Given the description of an element on the screen output the (x, y) to click on. 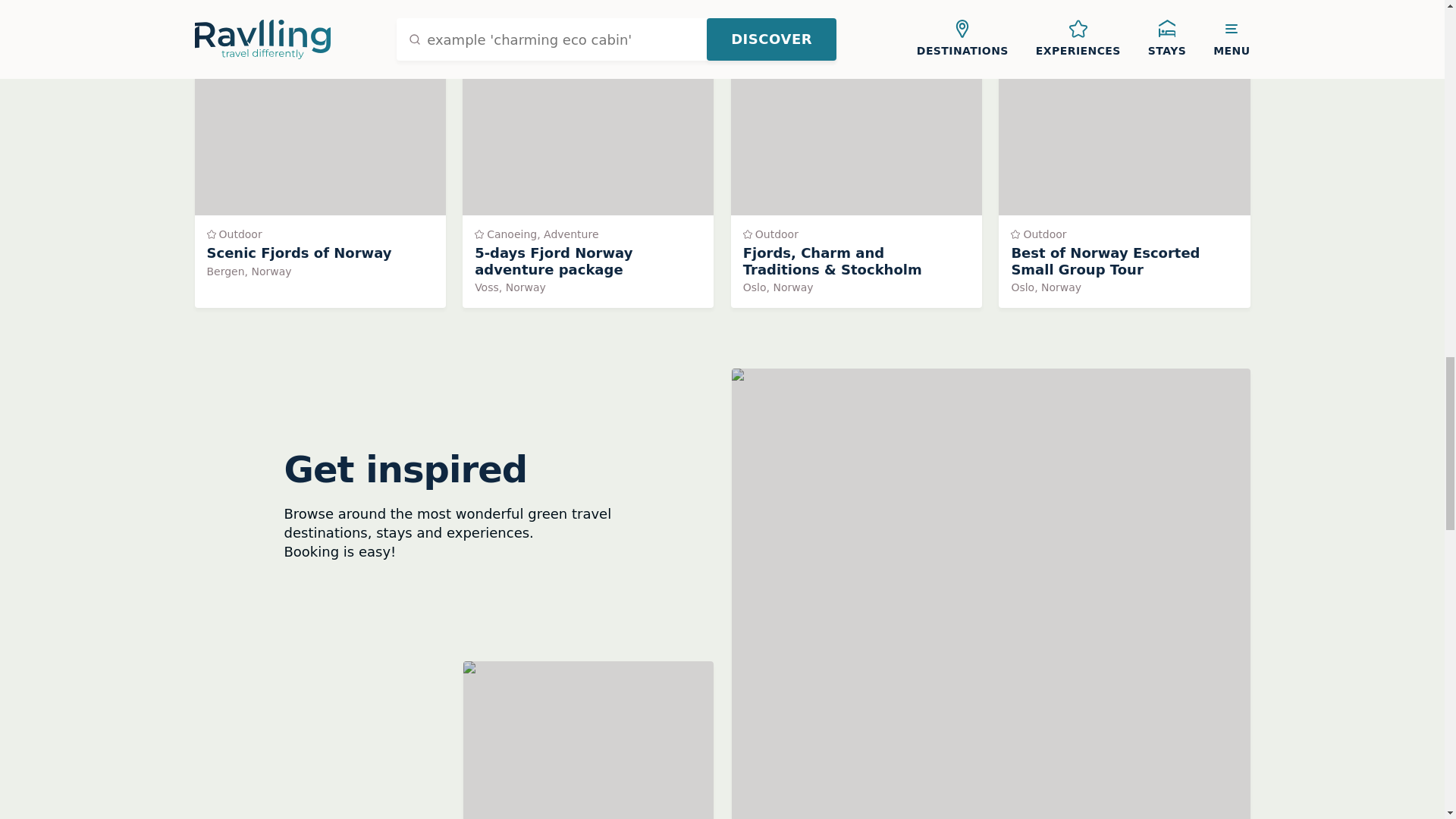
5-days Fjord Norway adventure package (319, 171)
 Best of Norway Escorted Small Group Tour (588, 171)
Stunning Fjords of Norway (1123, 171)
Scenic Fjords of Norway (588, 739)
